Given the description of an element on the screen output the (x, y) to click on. 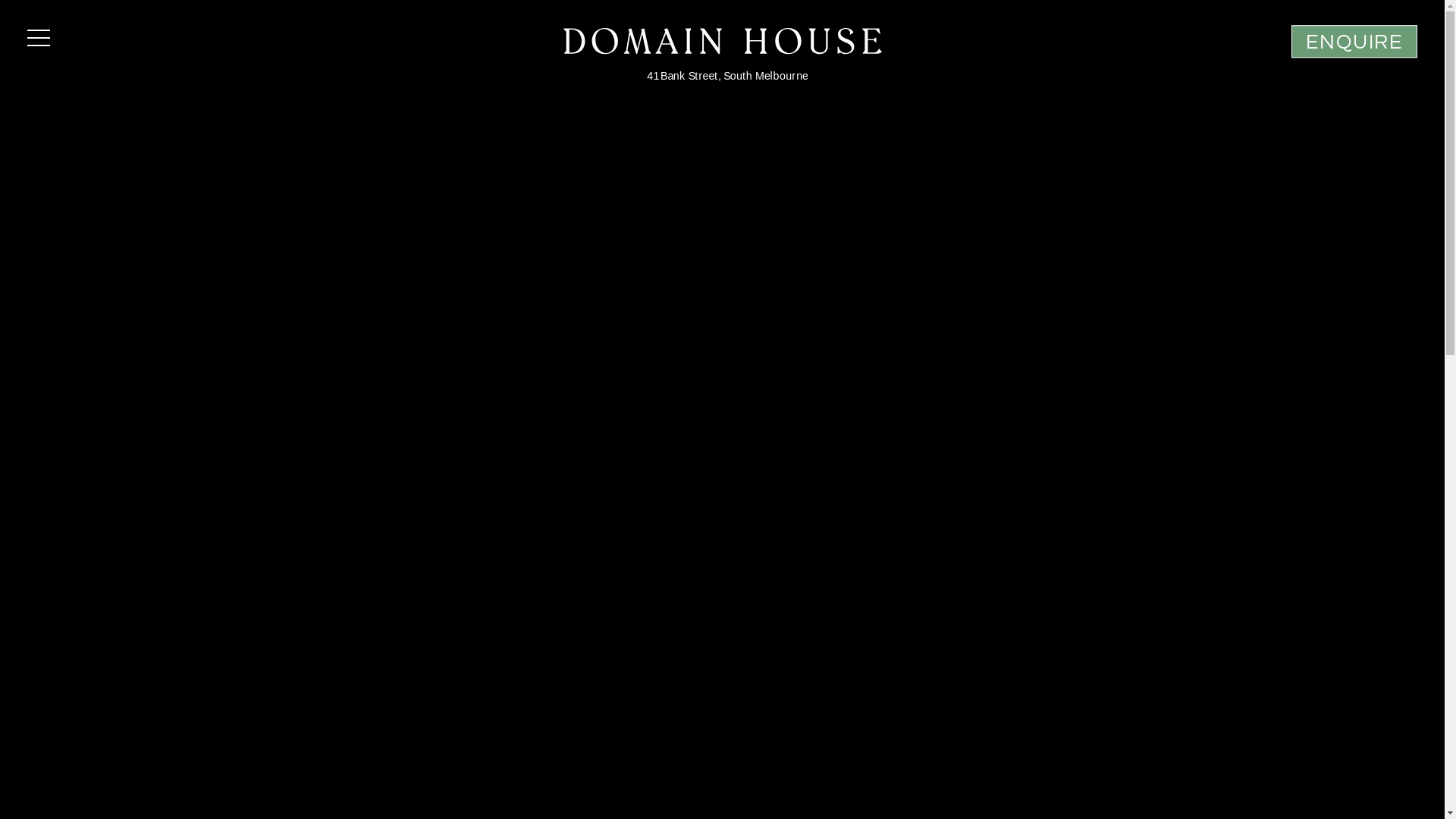
ENQUIRE Element type: text (1354, 41)
